Given the description of an element on the screen output the (x, y) to click on. 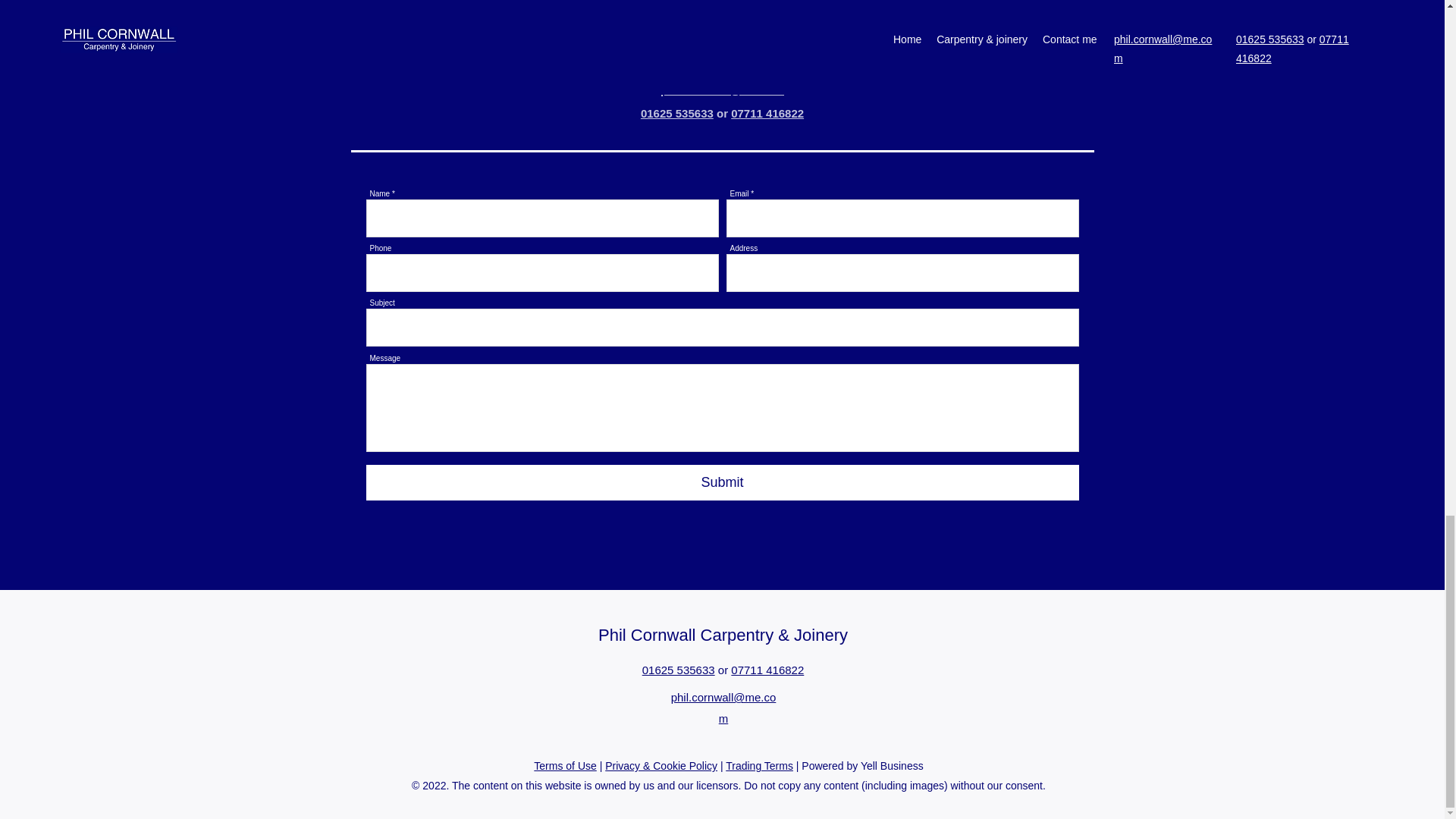
Submit (721, 482)
Trading Terms (759, 766)
07711 416822 (766, 113)
Terms of Use (564, 766)
01625 535633 (678, 669)
01625 535633 (676, 113)
07711 416822 (766, 669)
